Given the description of an element on the screen output the (x, y) to click on. 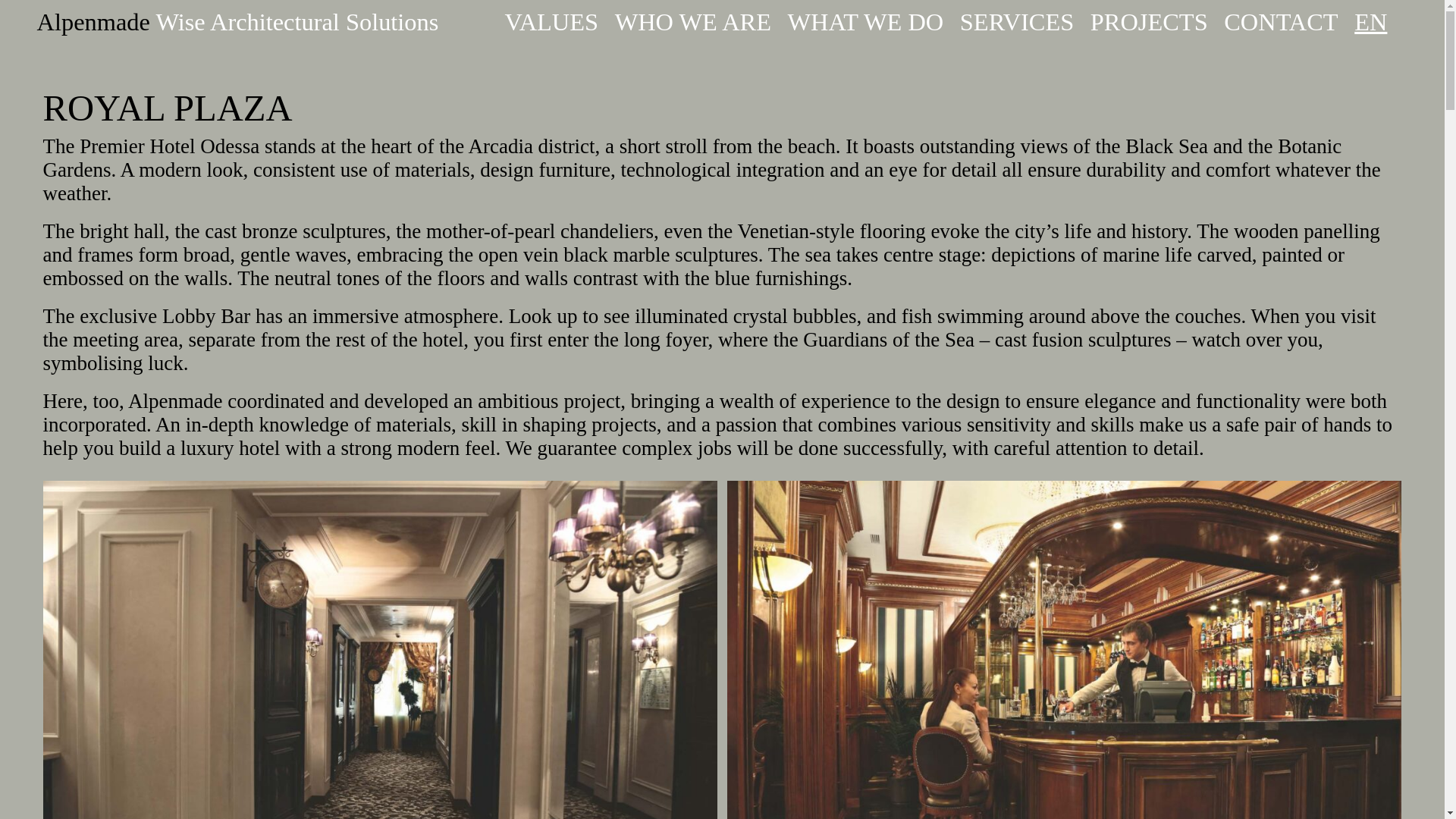
VALUES (550, 22)
WHAT WE DO (865, 22)
EN (1380, 22)
Alpenmade Wise Architectural Solutions (238, 22)
CONTACT (1281, 22)
WHO WE ARE (692, 22)
SERVICES (1016, 22)
PROJECTS (1149, 22)
